Given the description of an element on the screen output the (x, y) to click on. 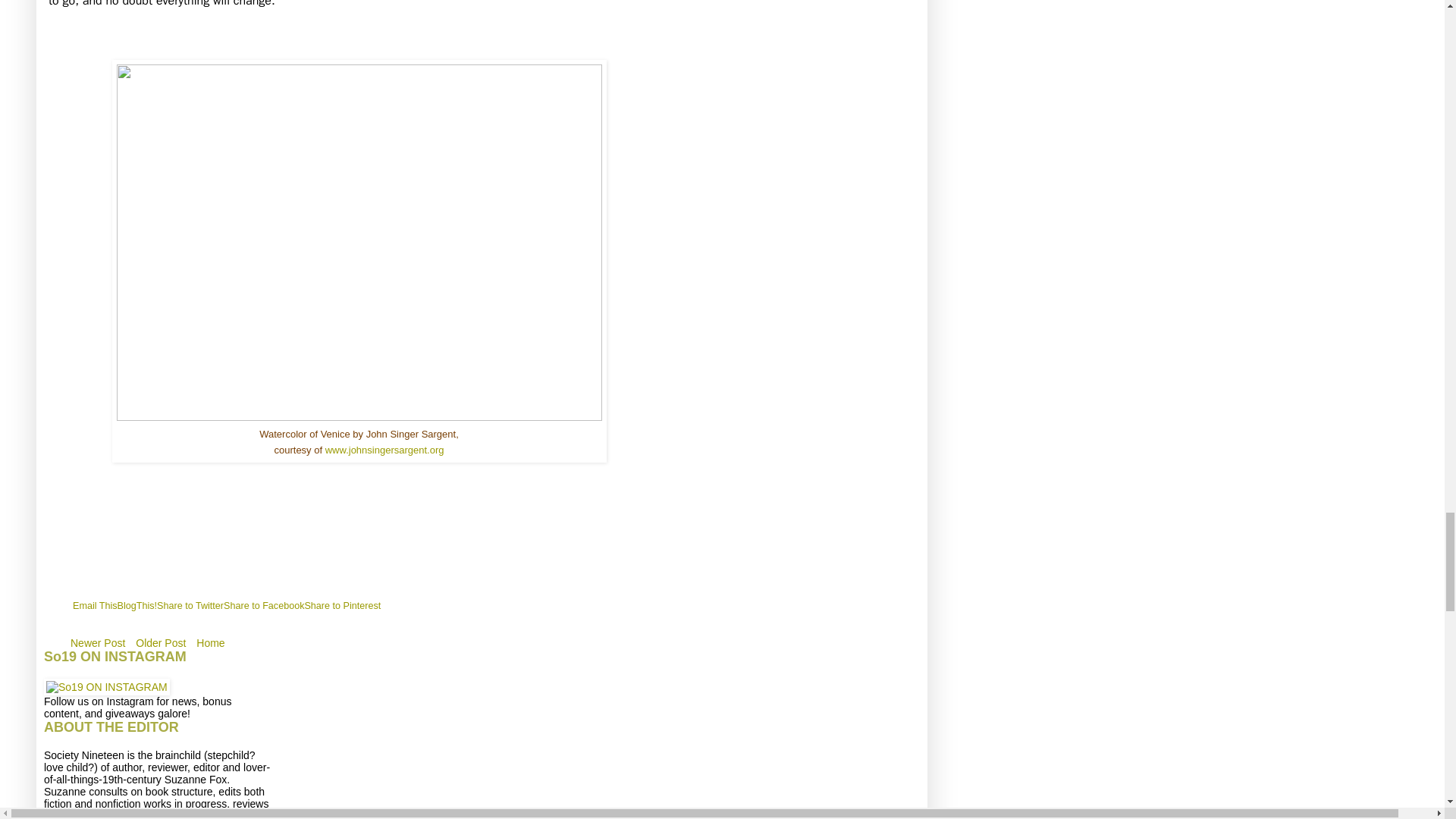
BlogThis! (137, 605)
Share to Twitter (190, 605)
Newer Post (97, 642)
Home (210, 642)
Share to Facebook (264, 605)
Older Post (160, 642)
Older Post (160, 642)
Email This (94, 605)
Share to Pinterest (342, 605)
Share to Facebook (264, 605)
www.johnsingersargent.org (384, 449)
Email This (94, 605)
BlogThis! (137, 605)
Share to Pinterest (342, 605)
Newer Post (97, 642)
